Given the description of an element on the screen output the (x, y) to click on. 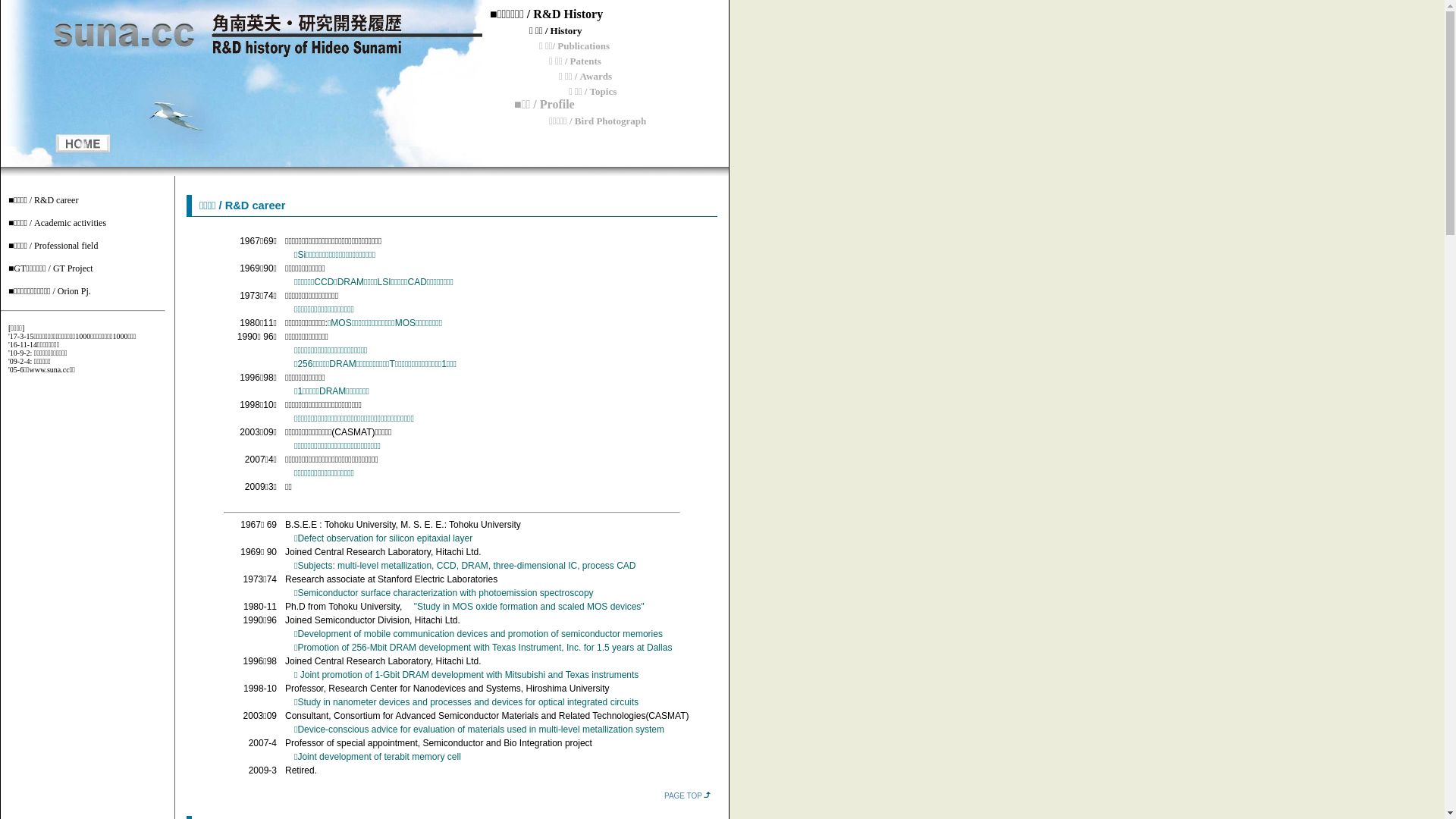
PAGE TOP Element type: text (683, 795)
